Given the description of an element on the screen output the (x, y) to click on. 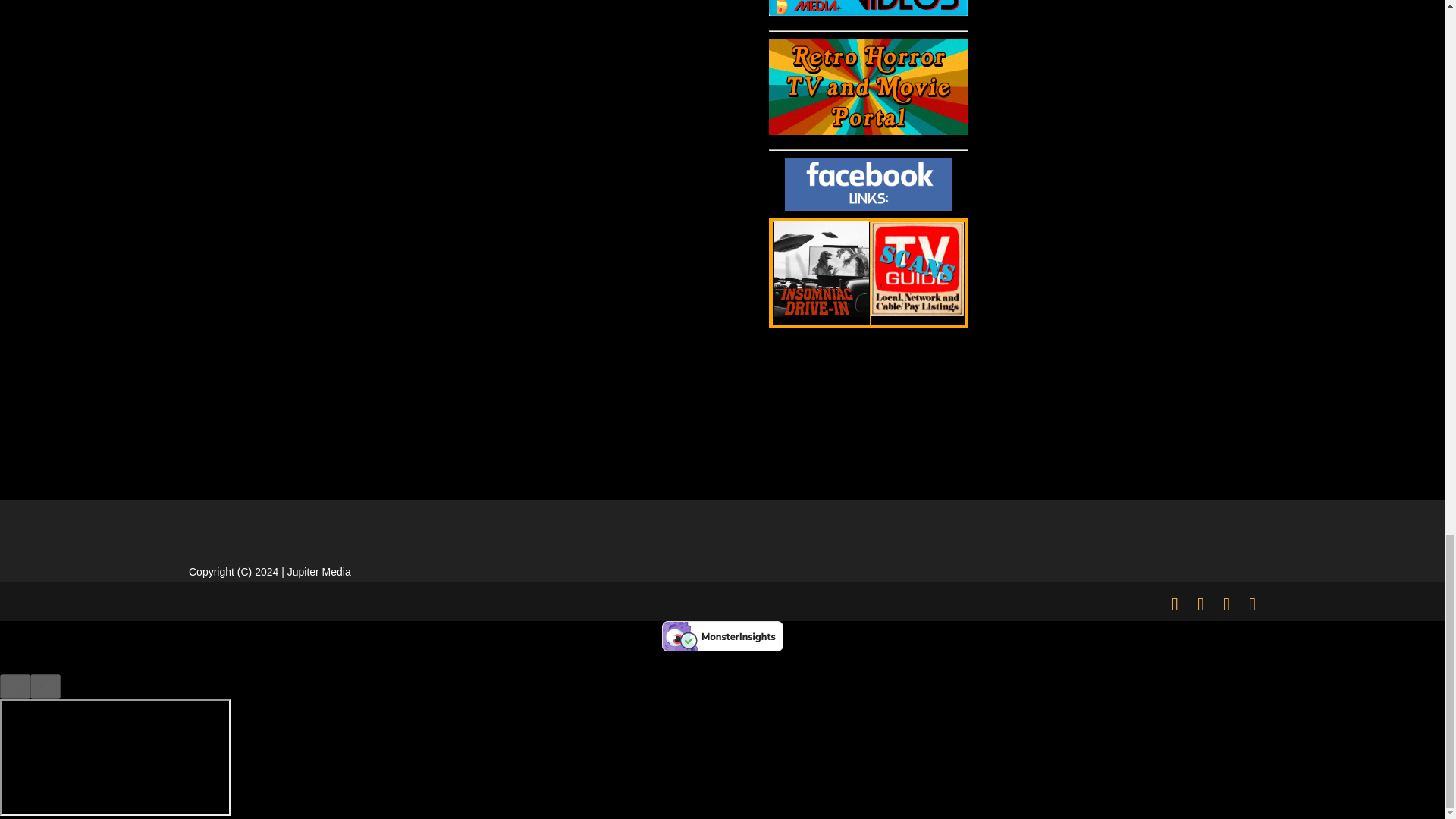
Verified by MonsterInsights (722, 635)
